Given the description of an element on the screen output the (x, y) to click on. 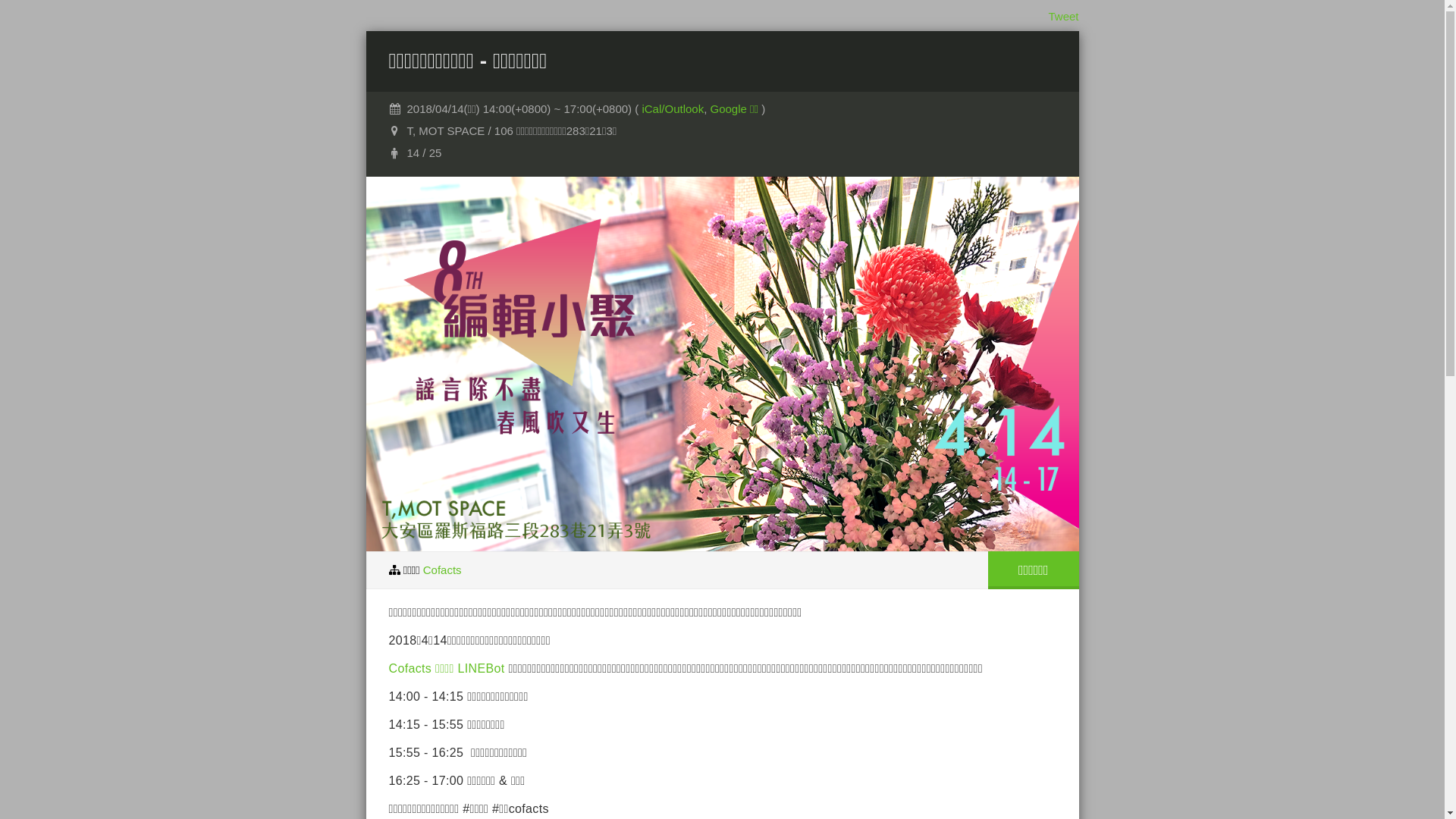
iCal/Outlook Element type: text (672, 108)
Cofacts Element type: text (442, 568)
Tweet Element type: text (1063, 15)
